Given the description of an element on the screen output the (x, y) to click on. 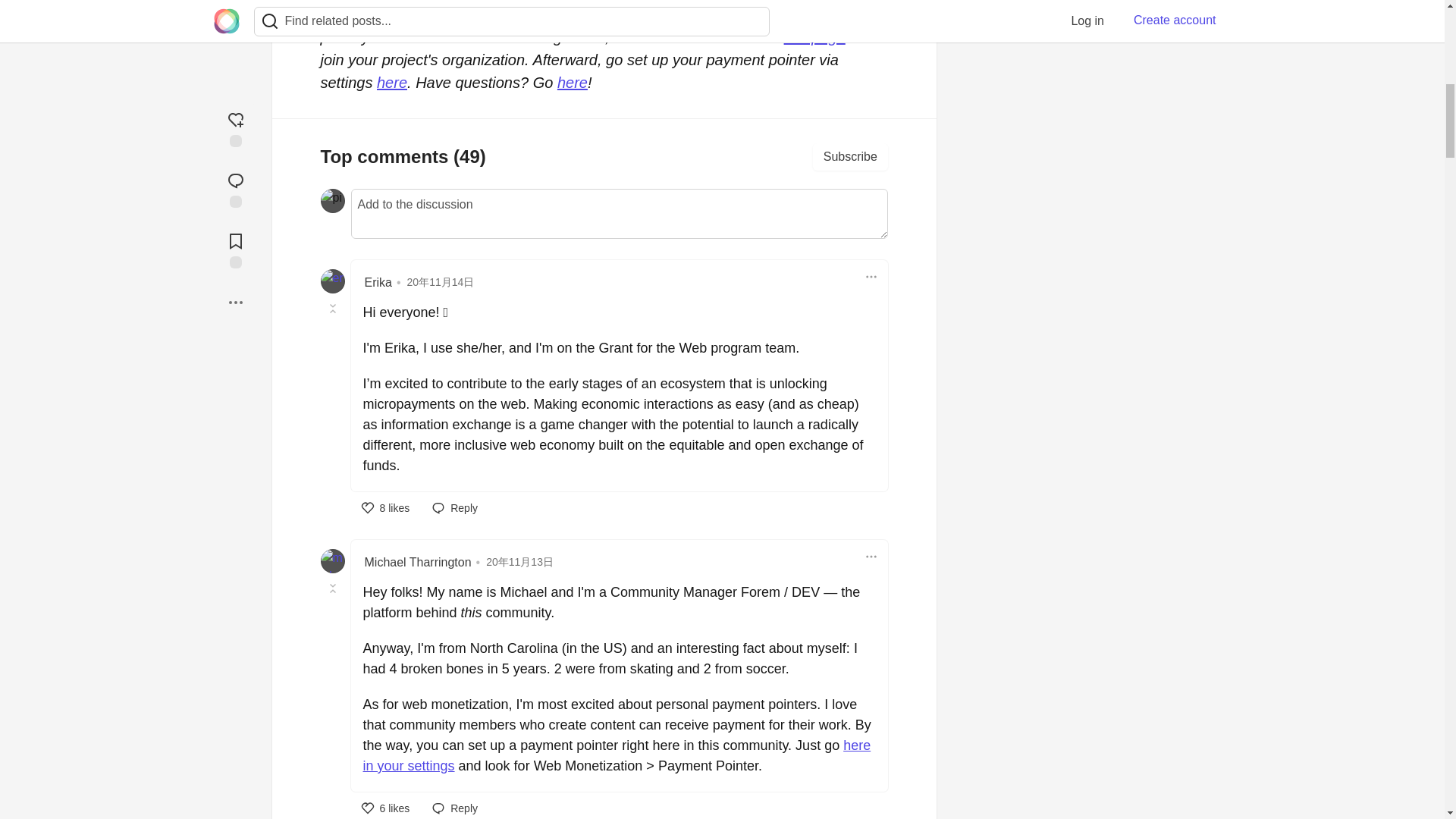
here (392, 82)
here (572, 82)
Dropdown menu (870, 276)
this page (814, 36)
Dropdown menu (870, 556)
